Given the description of an element on the screen output the (x, y) to click on. 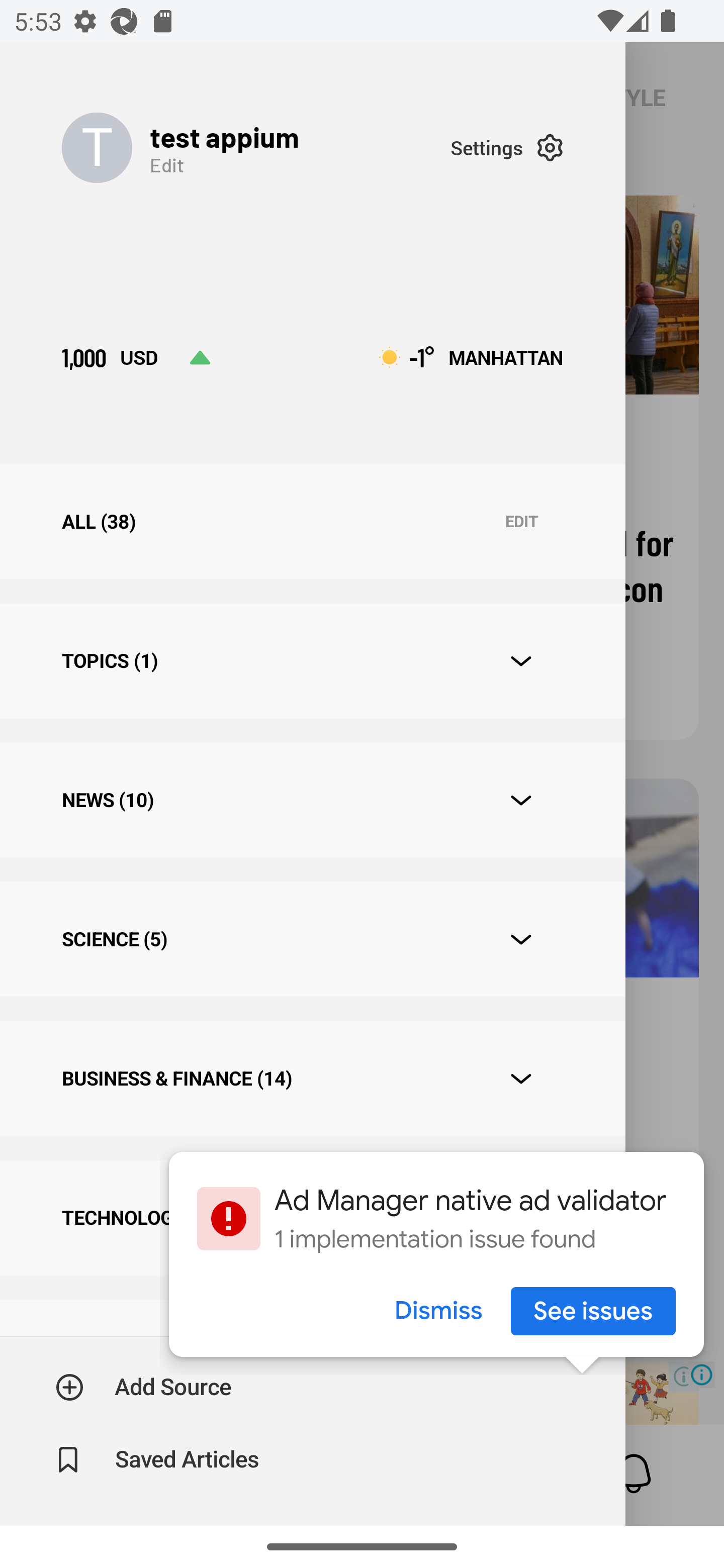
T test appium Edit (255, 147)
Settings Select News Style (506, 147)
1,000 USD Current State of the Currency (135, 357)
Current State of the Weather -1° MANHATTAN (471, 357)
ALL  (38) EDIT (312, 521)
EDIT (521, 521)
TOPICS  (1) Expand Button (312, 660)
Expand Button (521, 661)
NEWS  (10) Expand Button (312, 800)
Expand Button (521, 800)
SCIENCE  (5) Expand Button (312, 939)
Expand Button (521, 938)
BUSINESS & FINANCE  (14) Expand Button (312, 1077)
Expand Button (521, 1078)
Open Content Store Add Source (143, 1387)
Open Saved News  Saved Articles (158, 1459)
